Given the description of an element on the screen output the (x, y) to click on. 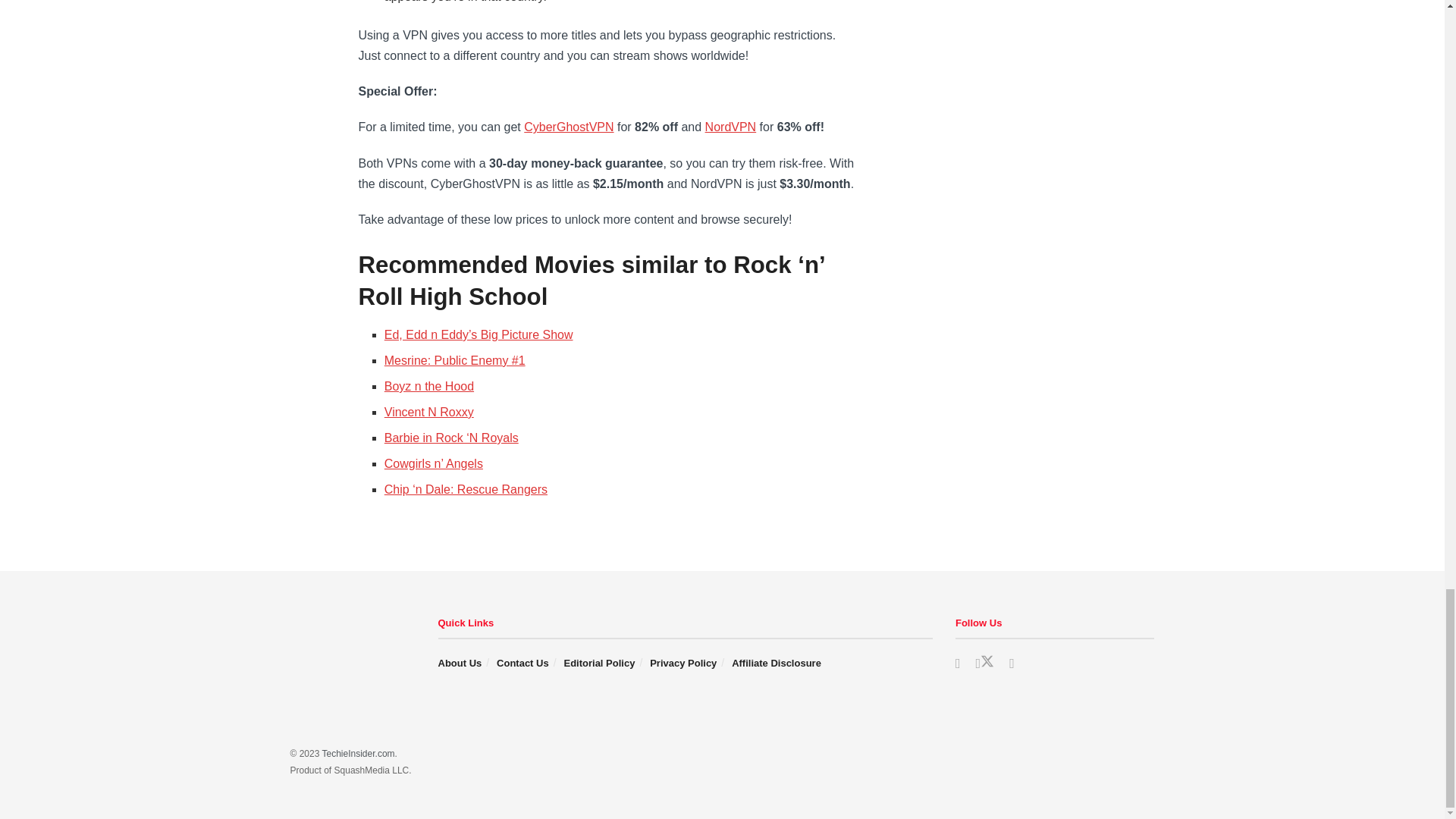
cyberghostvpn (568, 126)
try nordvpn (730, 126)
Techie Insider (357, 753)
